Given the description of an element on the screen output the (x, y) to click on. 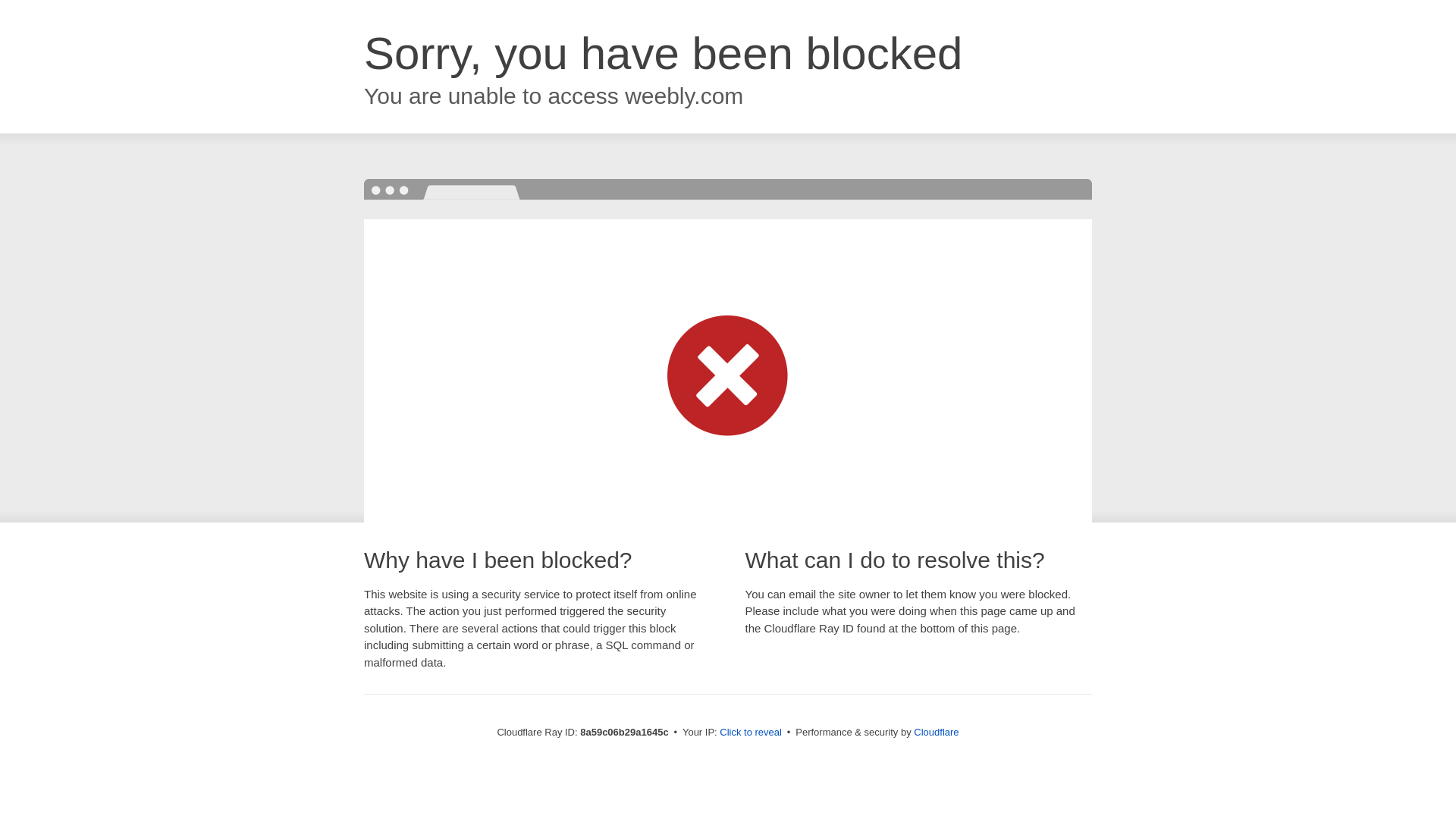
Click to reveal (750, 732)
Cloudflare (936, 731)
